Given the description of an element on the screen output the (x, y) to click on. 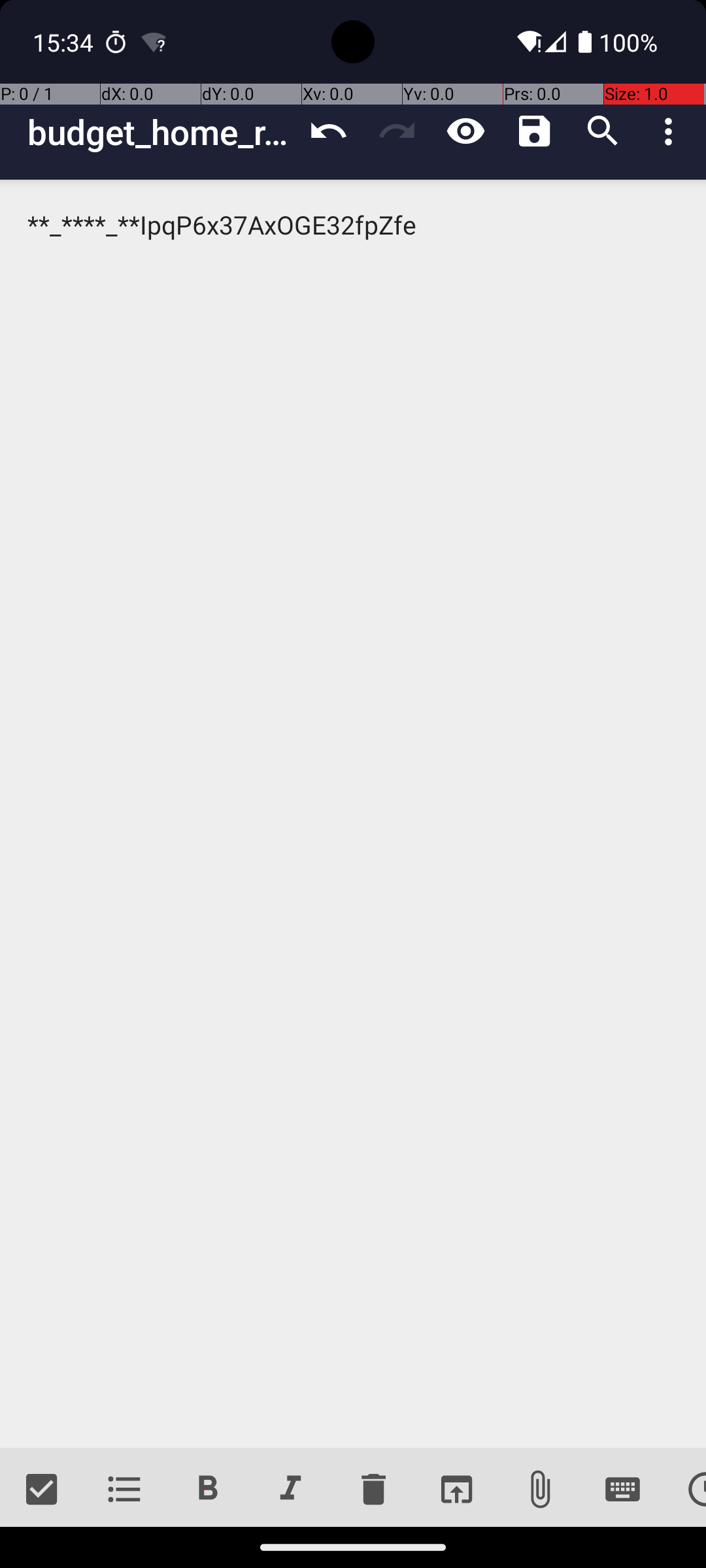
budget_home_renovation_copy Element type: android.widget.TextView (160, 131)
**_****_**IpqP6x37AxOGE32fpZfe
 Element type: android.widget.EditText (353, 813)
